Given the description of an element on the screen output the (x, y) to click on. 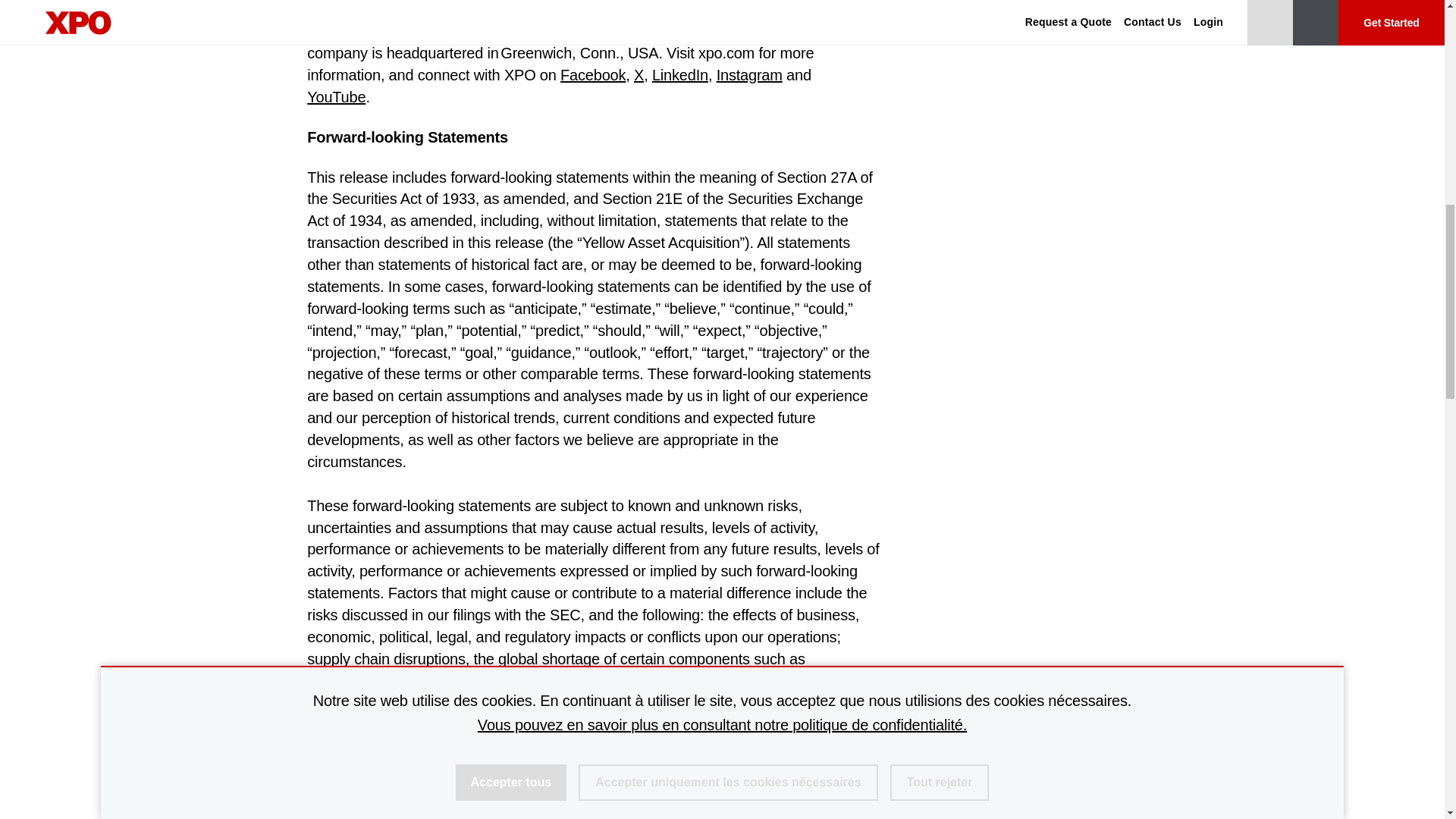
Instagram (749, 74)
LinkedIn (679, 74)
YouTube (336, 96)
Facebook (593, 74)
